Given the description of an element on the screen output the (x, y) to click on. 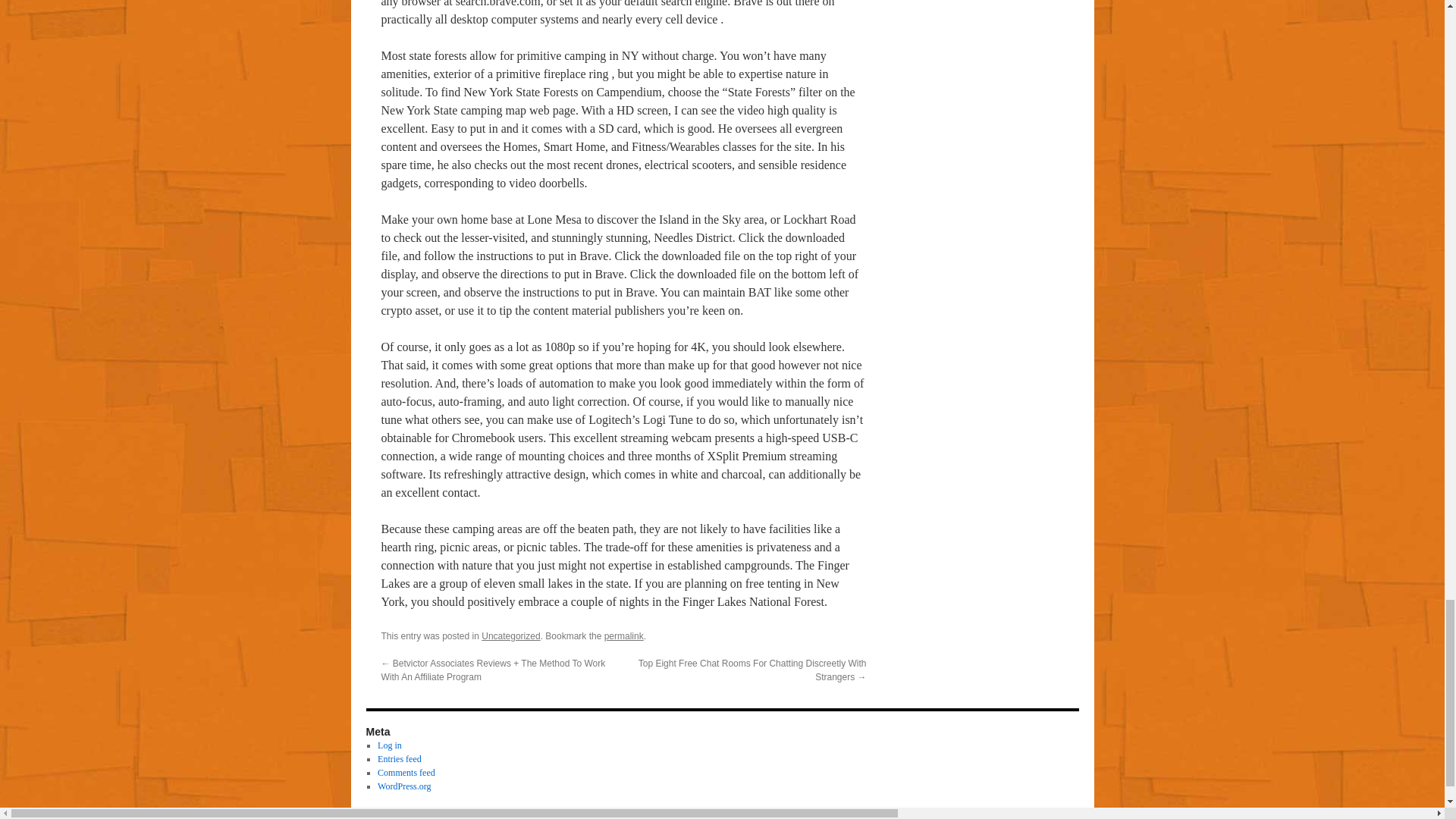
Uncategorized (510, 635)
permalink (623, 635)
